Given the description of an element on the screen output the (x, y) to click on. 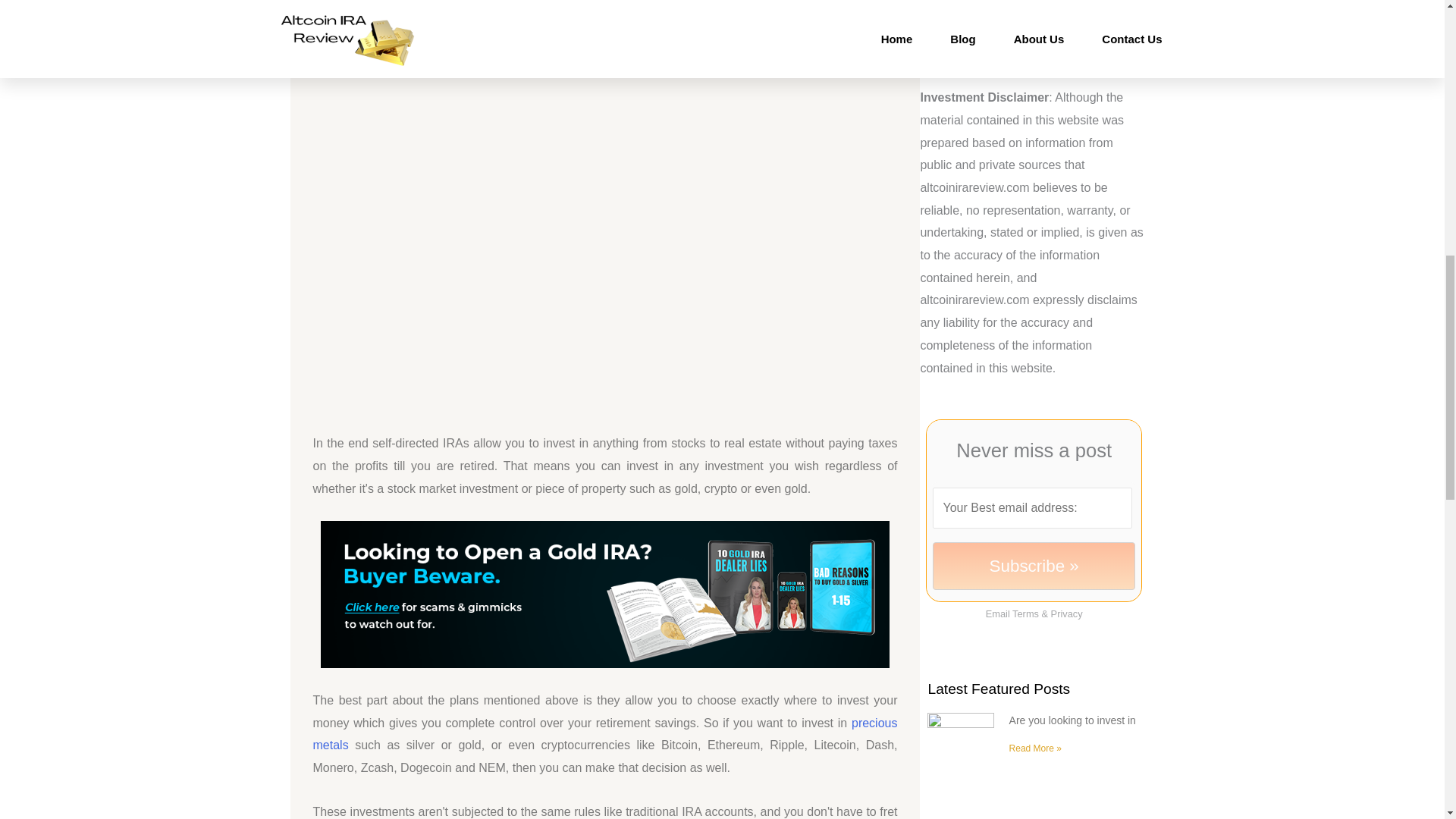
gold IRA (404, 48)
Email subscriptions privacy policy (1067, 613)
precious metals (604, 734)
Email subscriptions terms of service (1025, 613)
Your Best email address: (1032, 507)
